Given the description of an element on the screen output the (x, y) to click on. 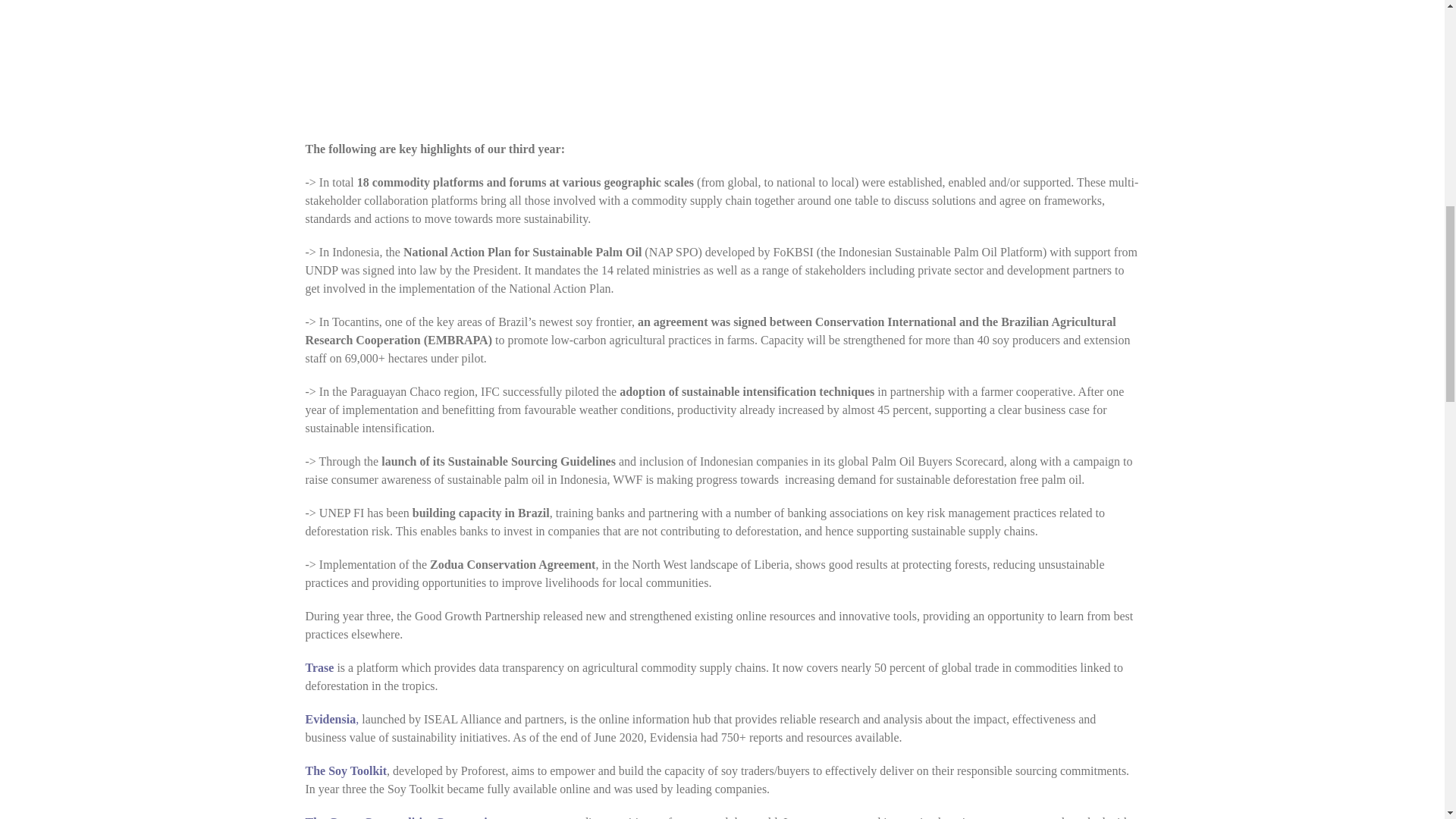
YouTube video player (722, 53)
